Given the description of an element on the screen output the (x, y) to click on. 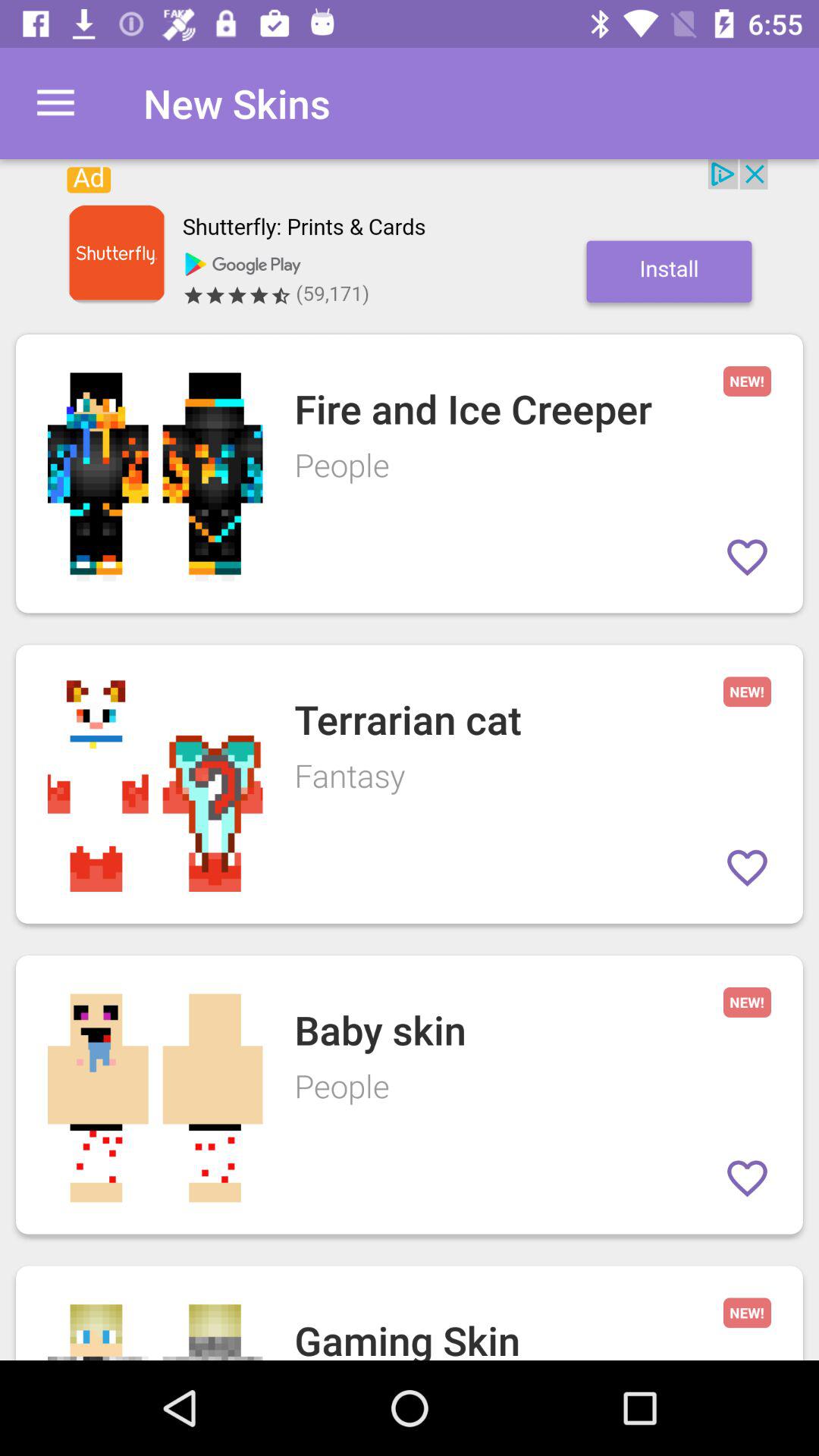
add terrarian cat skin as a favorite (747, 867)
